Given the description of an element on the screen output the (x, y) to click on. 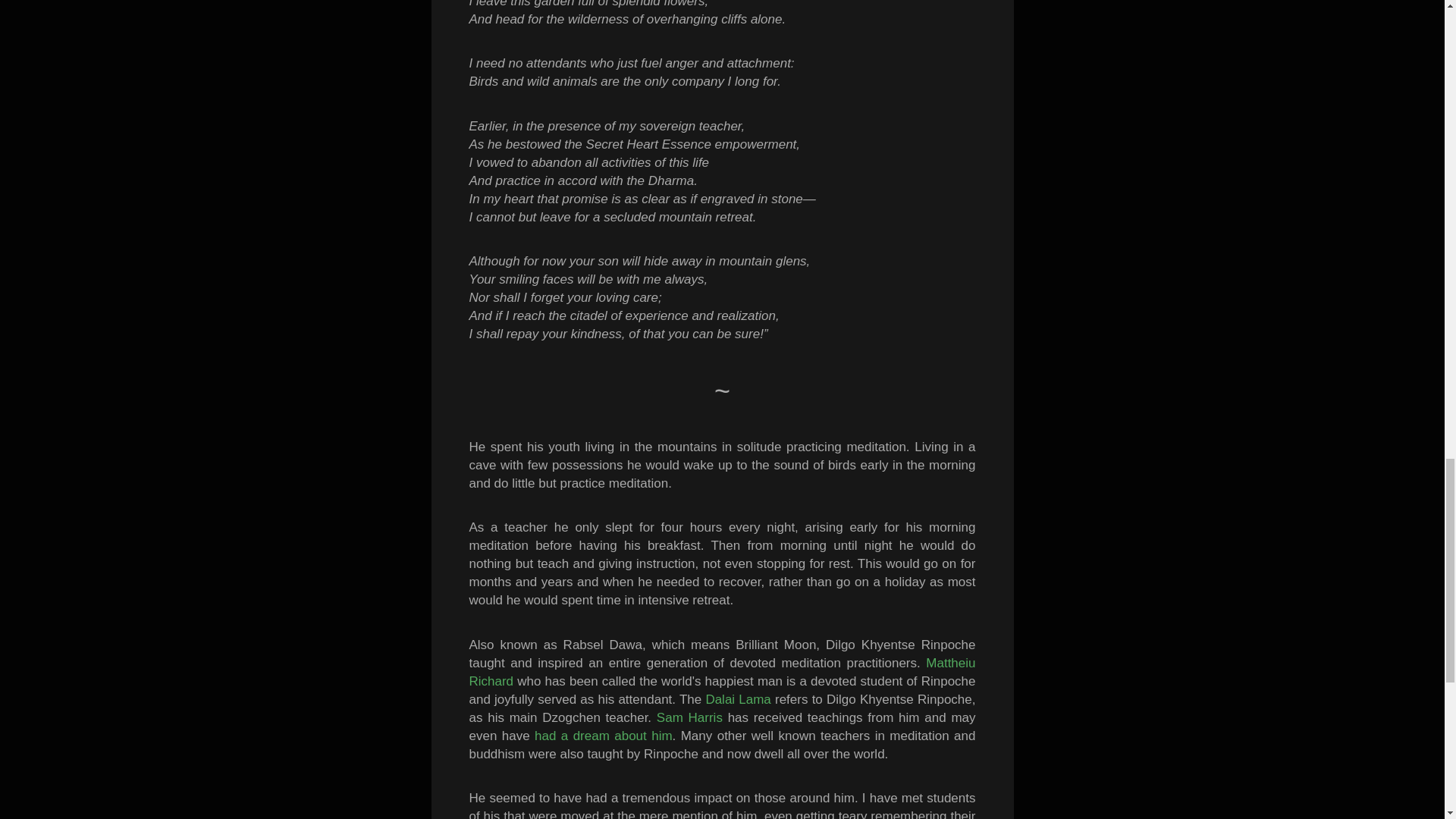
had a dream about him (603, 735)
Dalai Lama (737, 699)
Sam Harris (689, 717)
Mattheiu Richard (721, 672)
